Given the description of an element on the screen output the (x, y) to click on. 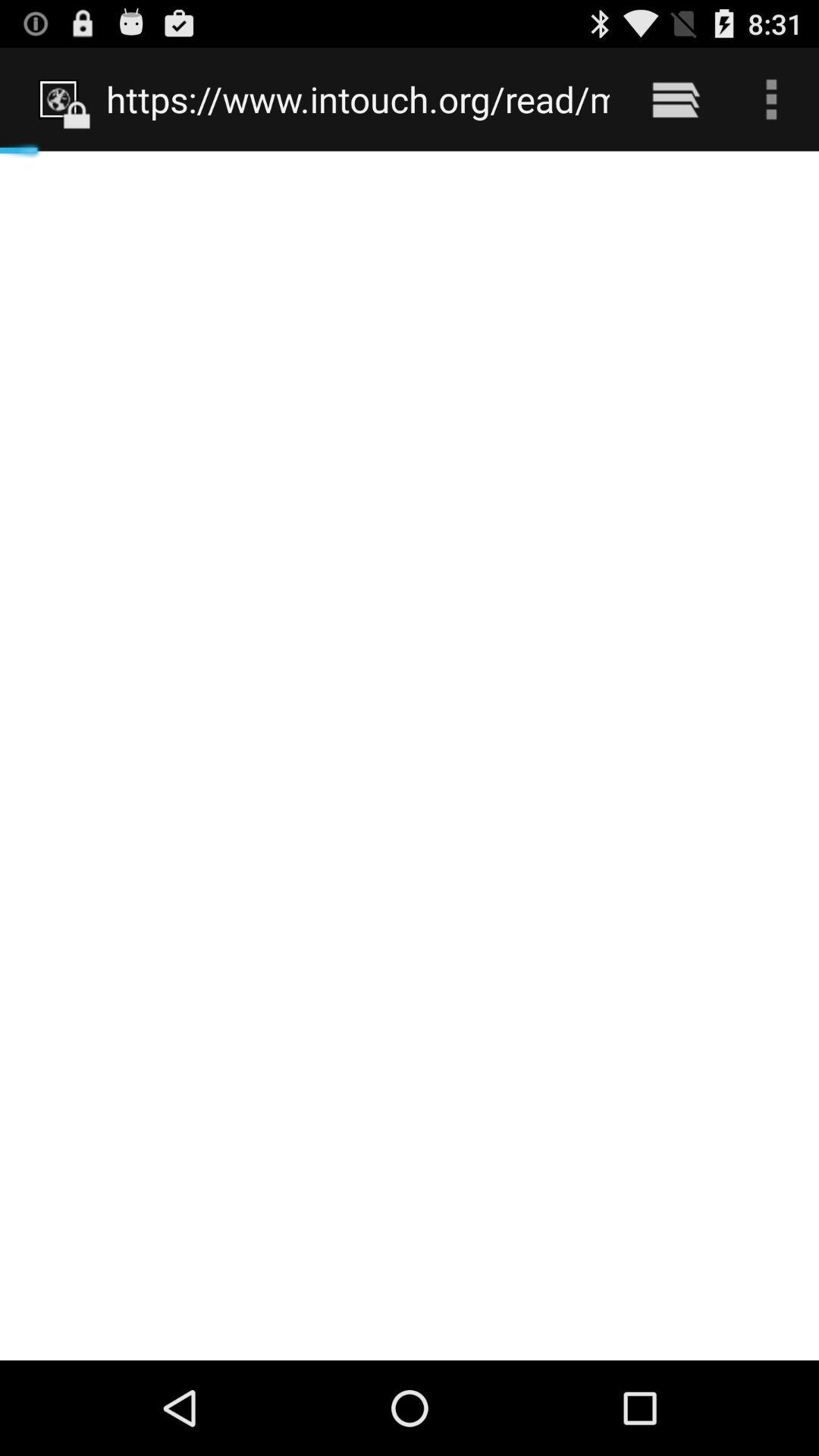
select icon below https www intouch icon (409, 755)
